Given the description of an element on the screen output the (x, y) to click on. 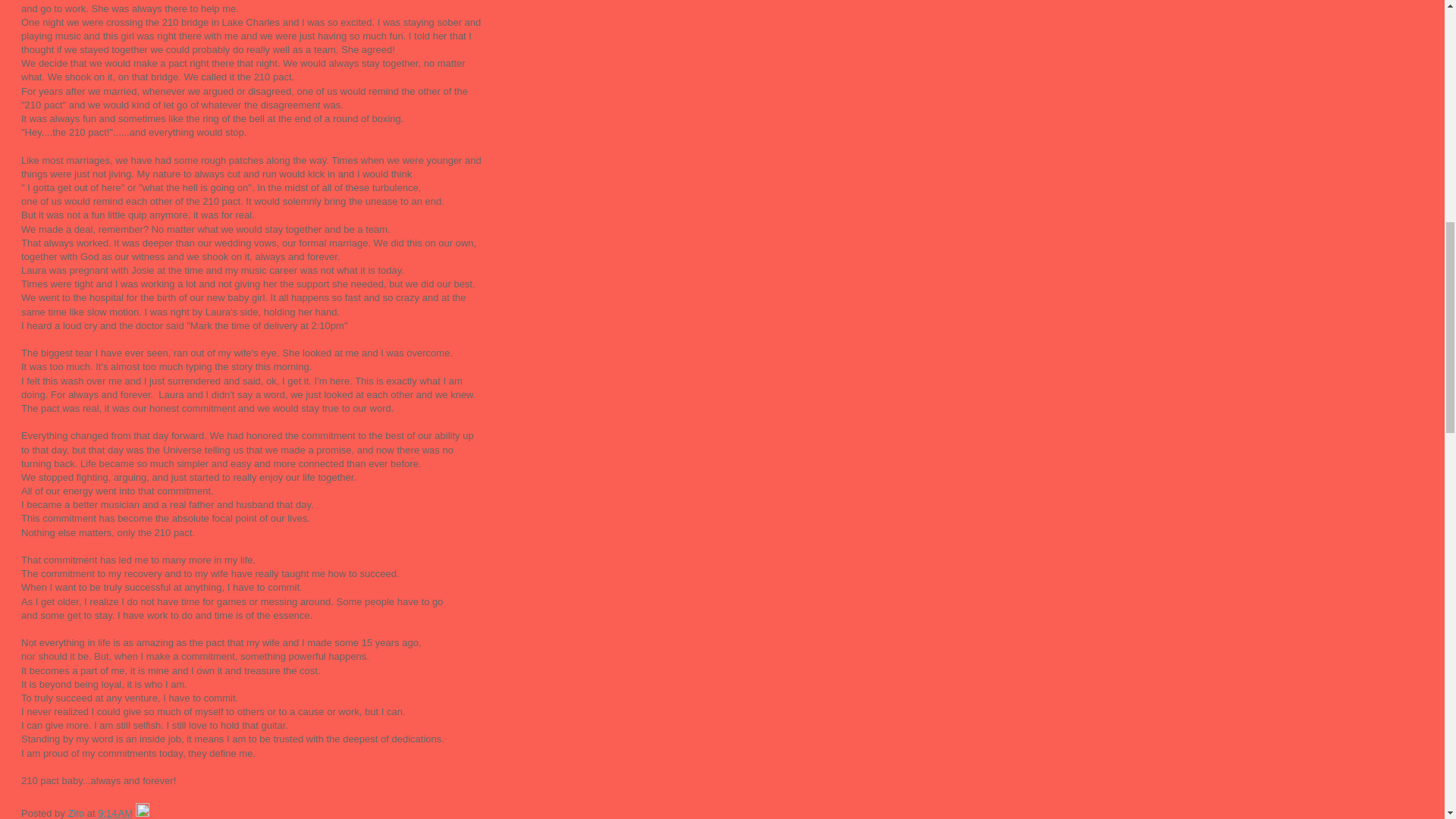
permanent link (114, 813)
Zito (75, 813)
author profile (75, 813)
Edit Post (142, 813)
